Given the description of an element on the screen output the (x, y) to click on. 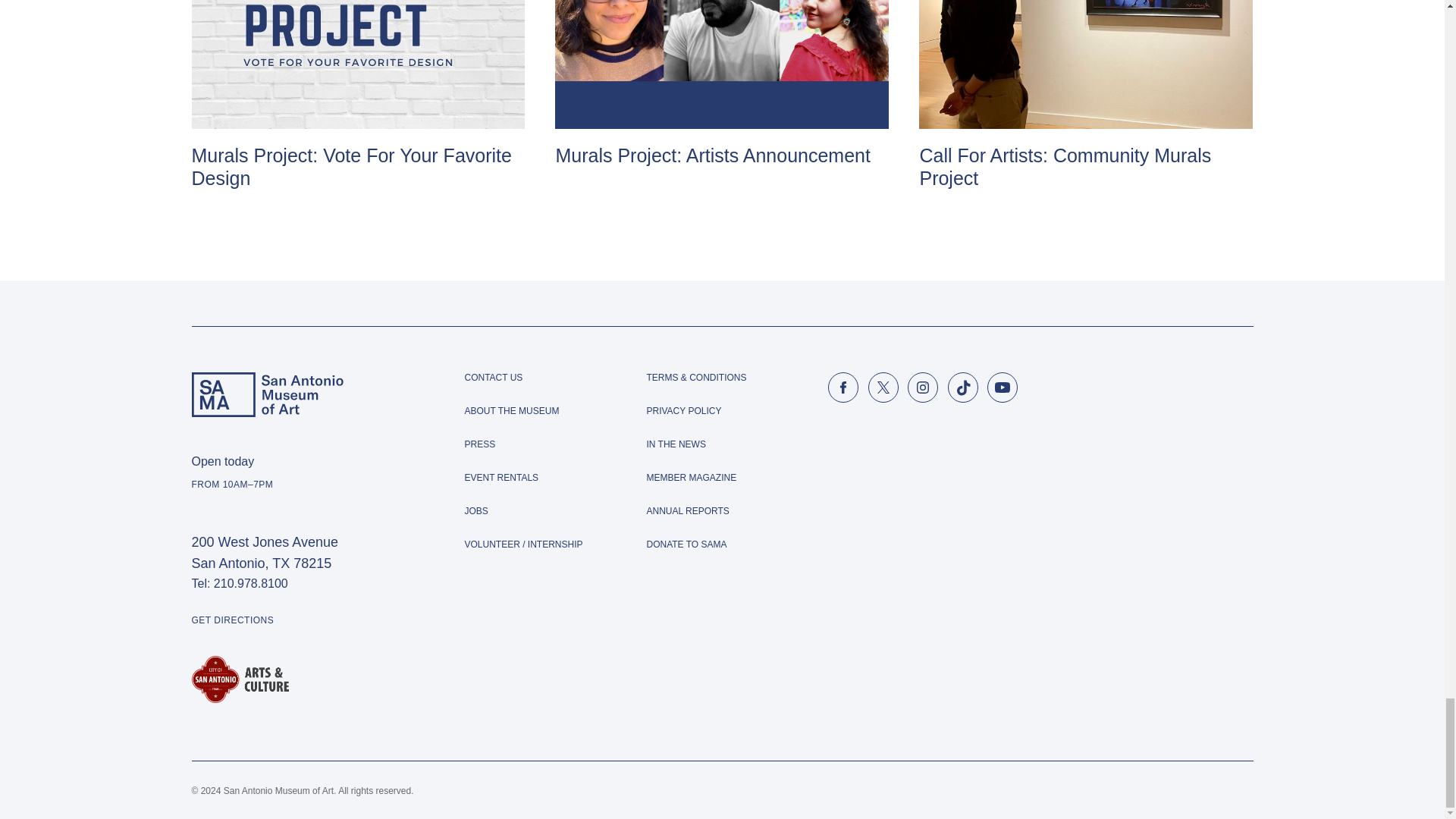
facebook (843, 387)
TikTok (962, 387)
San Antonio Museum of Art (266, 394)
Youtube (1002, 387)
Instagram (922, 387)
